Given the description of an element on the screen output the (x, y) to click on. 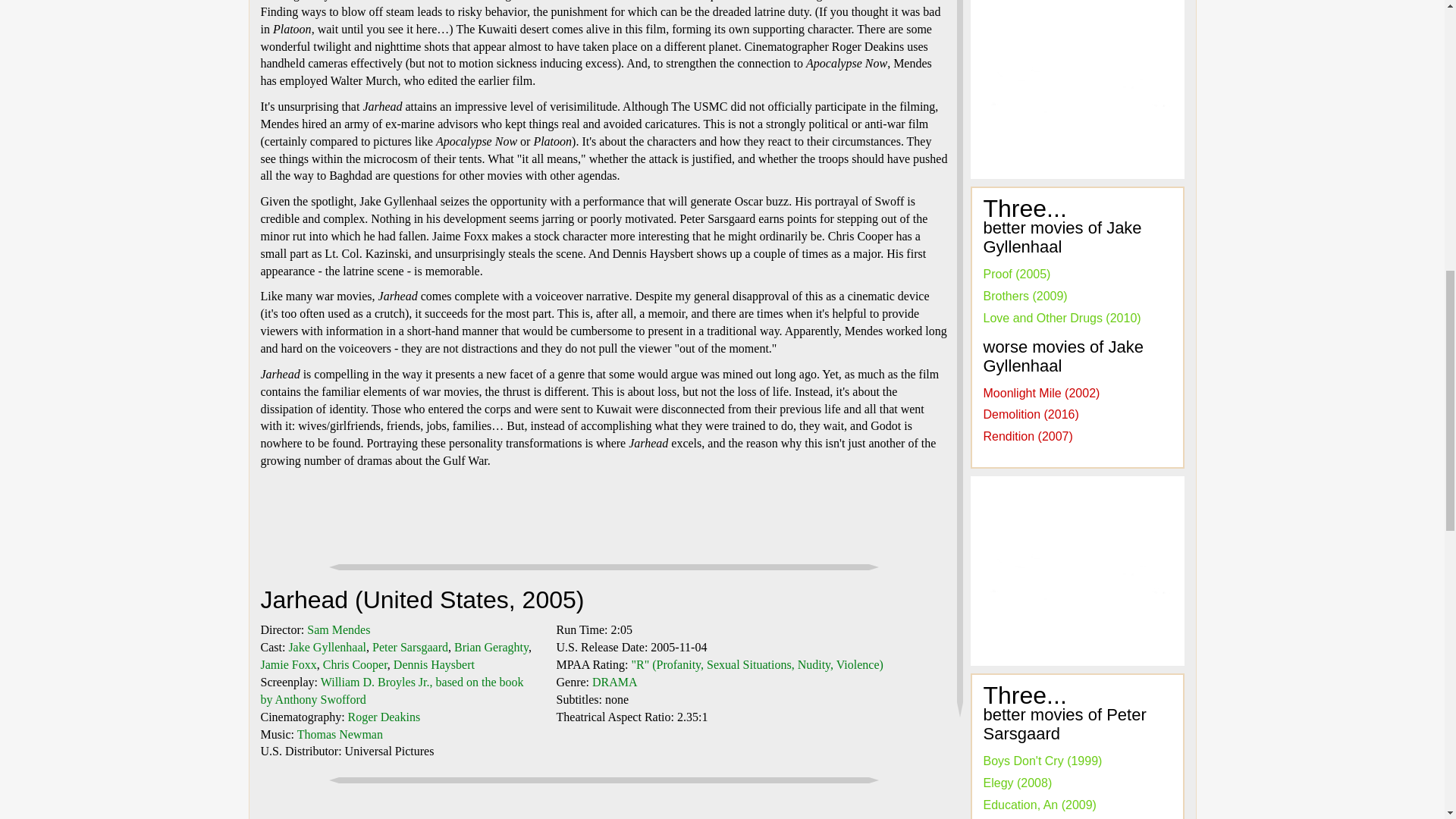
Chris Cooper (355, 664)
Peter Sarsgaard (410, 646)
Dennis Haysbert (433, 664)
View all reviews for movies starring Jake Gyllenhaal (327, 646)
View all reviews for movies starring Brian Geraghty (491, 646)
Sam Mendes (338, 629)
Jake Gyllenhaal (327, 646)
Brian Geraghty (491, 646)
Add Comment (881, 817)
